Given the description of an element on the screen output the (x, y) to click on. 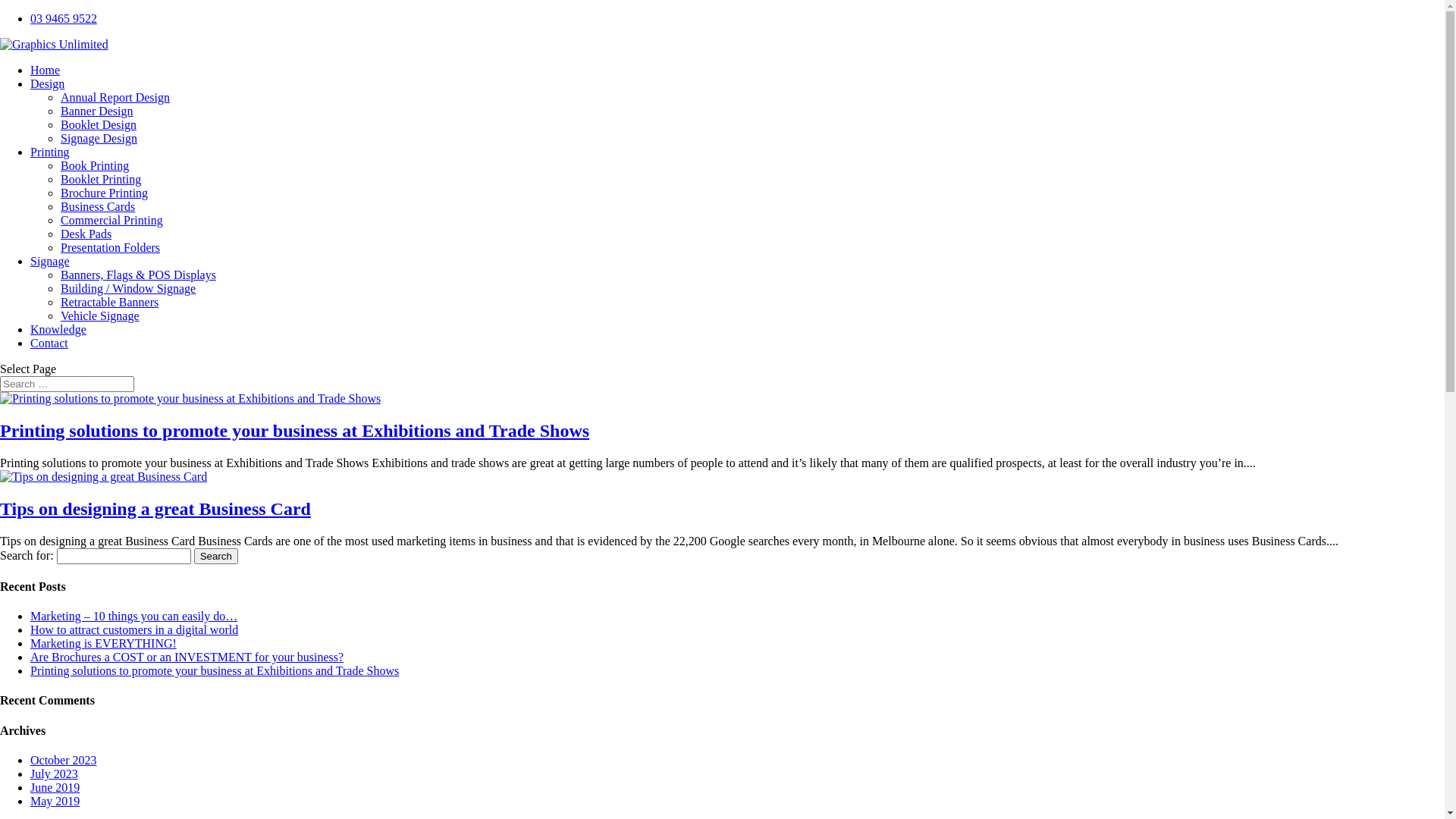
Booklet Design Element type: text (98, 124)
Design Element type: text (47, 83)
Retractable Banners Element type: text (109, 301)
Annual Report Design Element type: text (114, 97)
Desk Pads Element type: text (85, 233)
Search Element type: text (216, 556)
Banner Design Element type: text (96, 110)
Building / Window Signage Element type: text (127, 288)
Printing Element type: text (49, 151)
Are Brochures a COST or an INVESTMENT for your business? Element type: text (186, 656)
October 2023 Element type: text (63, 759)
How to attract customers in a digital world Element type: text (134, 629)
Signage Element type: text (49, 260)
Home Element type: text (44, 69)
Contact Element type: text (49, 342)
Tips on designing a great Business Card Element type: text (155, 508)
May 2019 Element type: text (54, 800)
Business Cards Element type: text (97, 206)
Booklet Printing Element type: text (100, 178)
Search for: Element type: hover (67, 384)
Commercial Printing Element type: text (111, 219)
Banners, Flags & POS Displays Element type: text (138, 274)
June 2019 Element type: text (54, 787)
Presentation Folders Element type: text (110, 247)
July 2023 Element type: text (54, 773)
Marketing is EVERYTHING! Element type: text (103, 643)
Vehicle Signage Element type: text (99, 315)
Signage Design Element type: text (98, 137)
03 9465 9522 Element type: text (63, 18)
Brochure Printing Element type: text (103, 192)
Knowledge Element type: text (58, 329)
Book Printing Element type: text (94, 165)
